Given the description of an element on the screen output the (x, y) to click on. 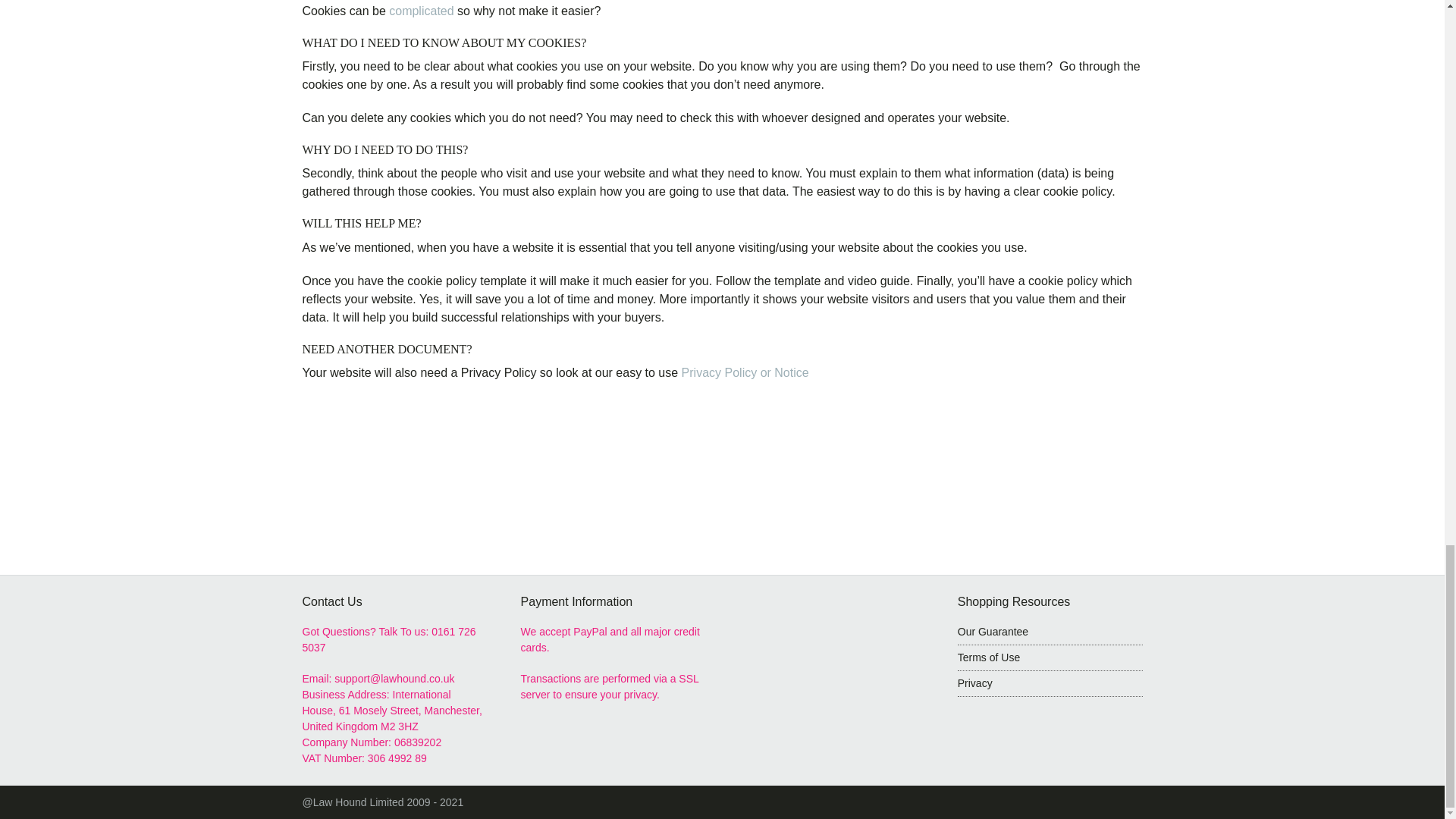
complicated (419, 10)
Terms of Use (1050, 658)
Our Guarantee (992, 631)
Privacy (1050, 684)
Privacy Policy or Notice   (748, 372)
